Given the description of an element on the screen output the (x, y) to click on. 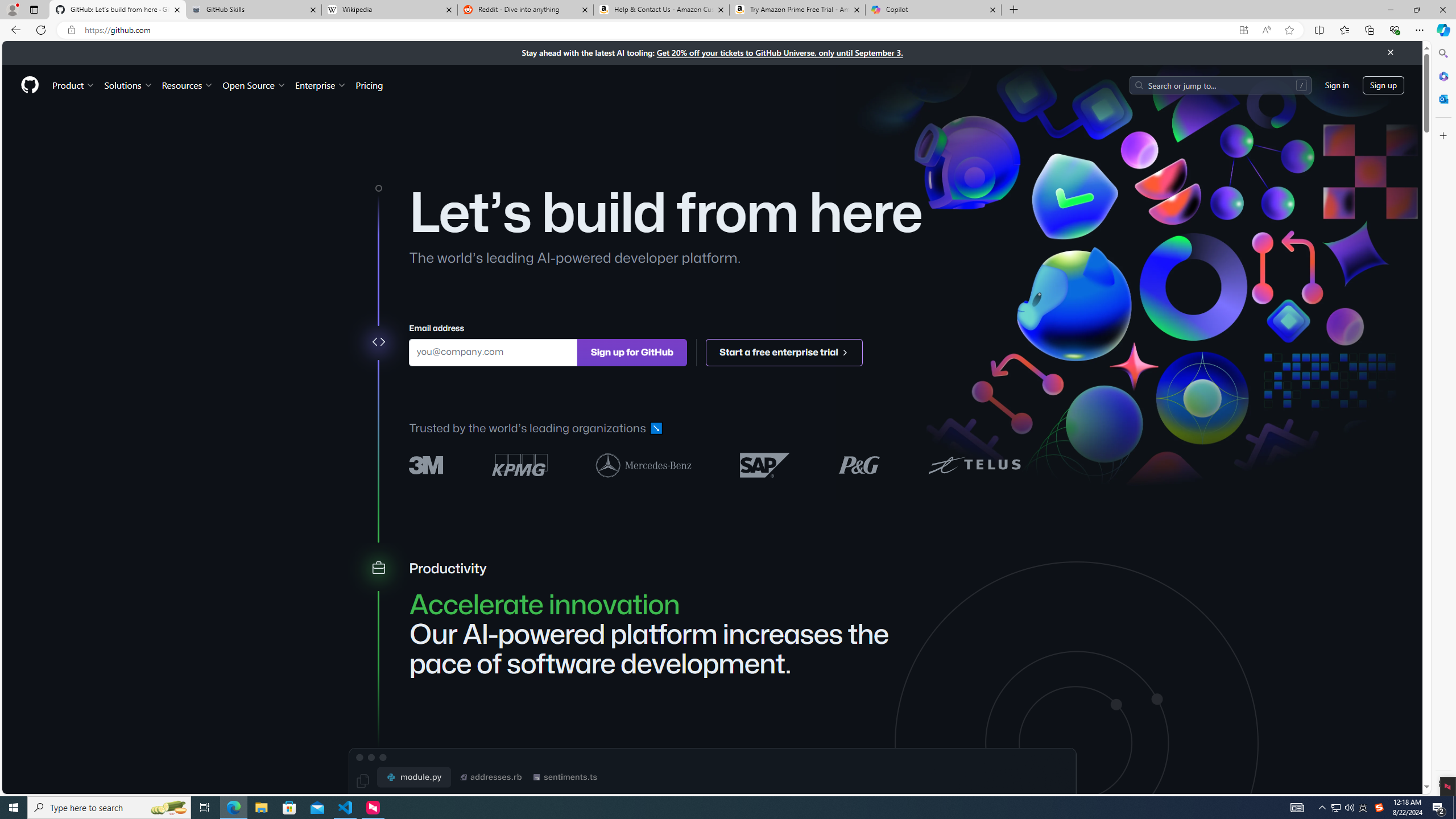
Tab actions menu (33, 9)
Settings (1442, 783)
Help & Contact Us - Amazon Customer Service (660, 9)
App bar (728, 29)
Mercedes-Benz logo (643, 464)
App available. Install GitHub (1243, 29)
Class: octicon arrow-symbol-mktg (845, 352)
GitHub Skills (253, 9)
Collections (1369, 29)
Sign up (1382, 84)
Customize (1442, 135)
3M logo (426, 465)
New Tab (1014, 9)
Close Outlook pane (1442, 98)
KPMG logo (519, 464)
